Given the description of an element on the screen output the (x, y) to click on. 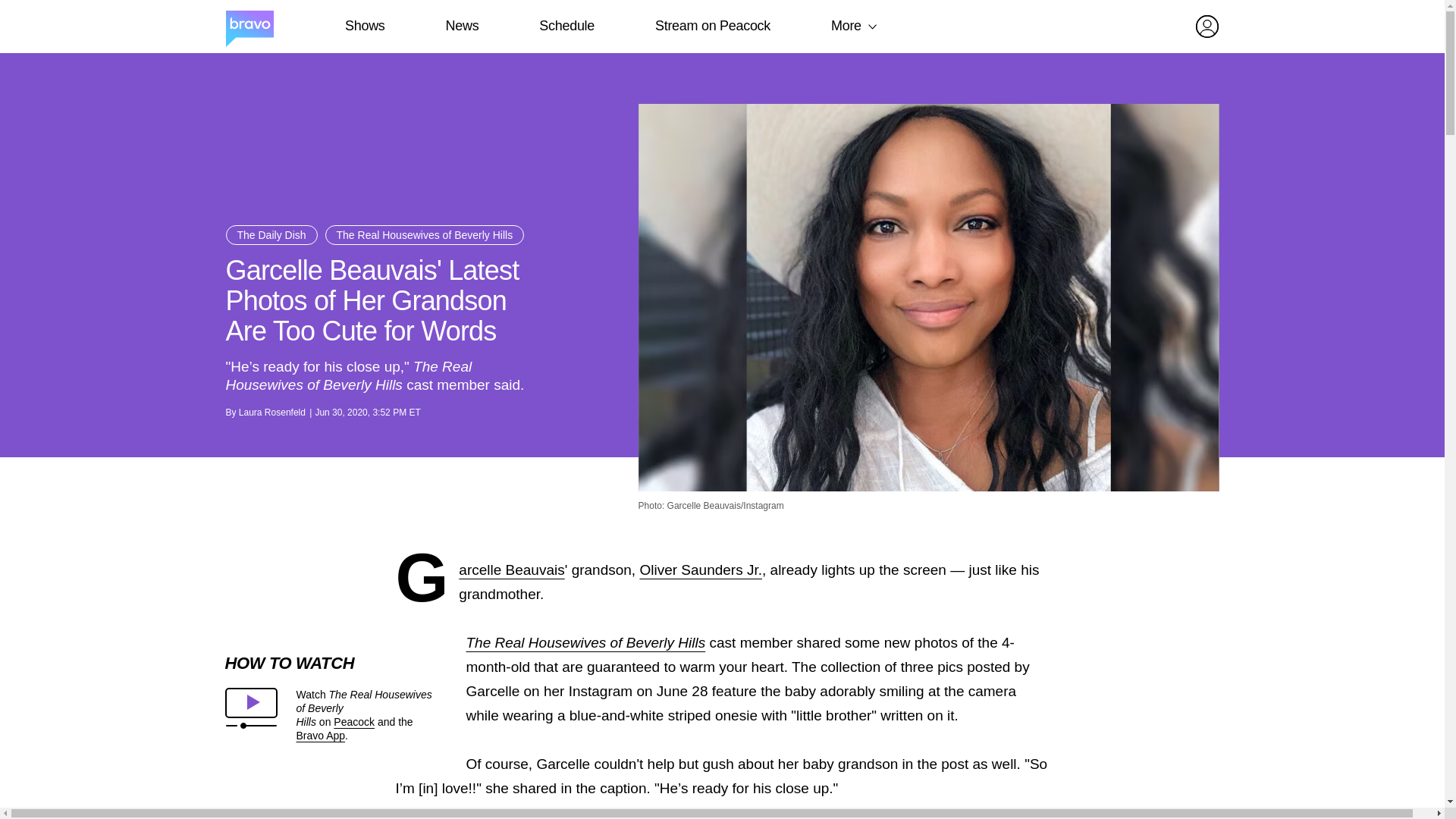
Shows (363, 26)
Bravo App (320, 735)
Peacock (353, 721)
The Real Housewives of Beverly Hills (424, 234)
Oliver Saunders Jr. (700, 569)
Schedule (566, 26)
Stream on Peacock (712, 26)
Home (249, 26)
The Daily Dish (271, 234)
Laura Rosenfeld (271, 412)
More (846, 26)
Garcelle Beauvais (511, 569)
News (462, 26)
The Real Housewives of Beverly Hills (584, 642)
